Given the description of an element on the screen output the (x, y) to click on. 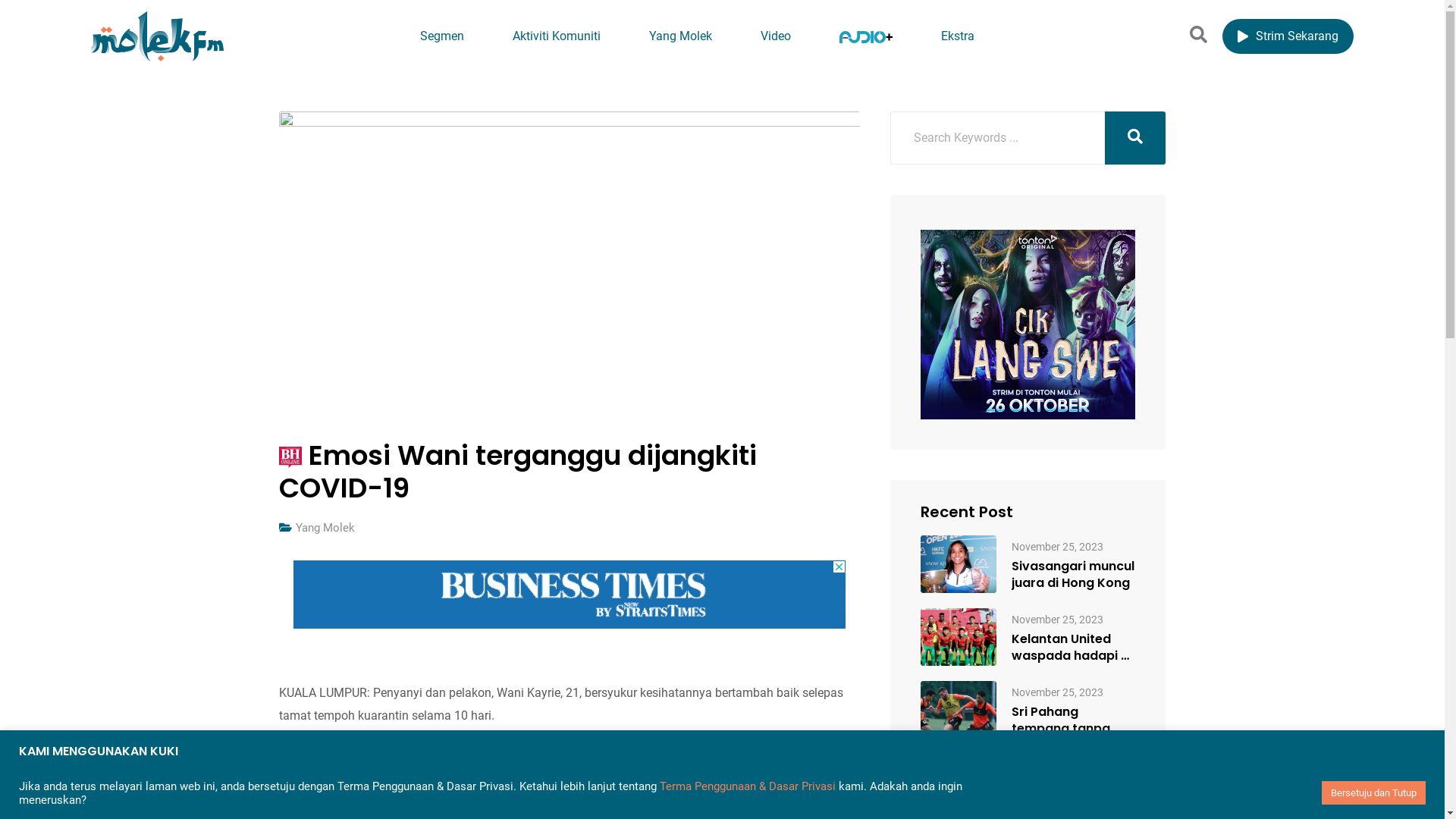
3rd party ad content Element type: hover (1027, 324)
Kelantan United waspada hadapi KL City Element type: text (1073, 647)
Kim Swee idam tamatkan liga di kedudukan lebih baik Element type: text (1073, 792)
Ekstra Element type: text (957, 36)
Strim Sekarang Element type: text (1287, 35)
Video Element type: text (775, 36)
Yang Molek Element type: text (680, 36)
Terma Penggunaan & Dasar Privasi Element type: text (747, 786)
Klik sini untuk baca artikel penuh. Element type: text (368, 760)
 Kim Swee idam tamatkan liga di kedudukan lebih baik Element type: hover (958, 782)
Aktiviti Komuniti Element type: text (556, 36)
 Sri Pahang tempang tanpa lima tonggak Element type: hover (958, 709)
Sri Pahang tempang tanpa lima tonggak Element type: text (1073, 720)
Yang Molek Element type: text (324, 527)
Bersetuju dan Tutup Element type: text (1373, 792)
Sivasangari muncul juara di Hong Kong Element type: text (1073, 574)
Segmen Element type: text (441, 36)
Search Element type: hover (1198, 35)
 Kelantan United waspada hadapi KL City Element type: hover (958, 636)
 Sivasangari muncul juara di Hong Kong Element type: hover (958, 564)
3rd party ad content Element type: hover (569, 594)
